Given the description of an element on the screen output the (x, y) to click on. 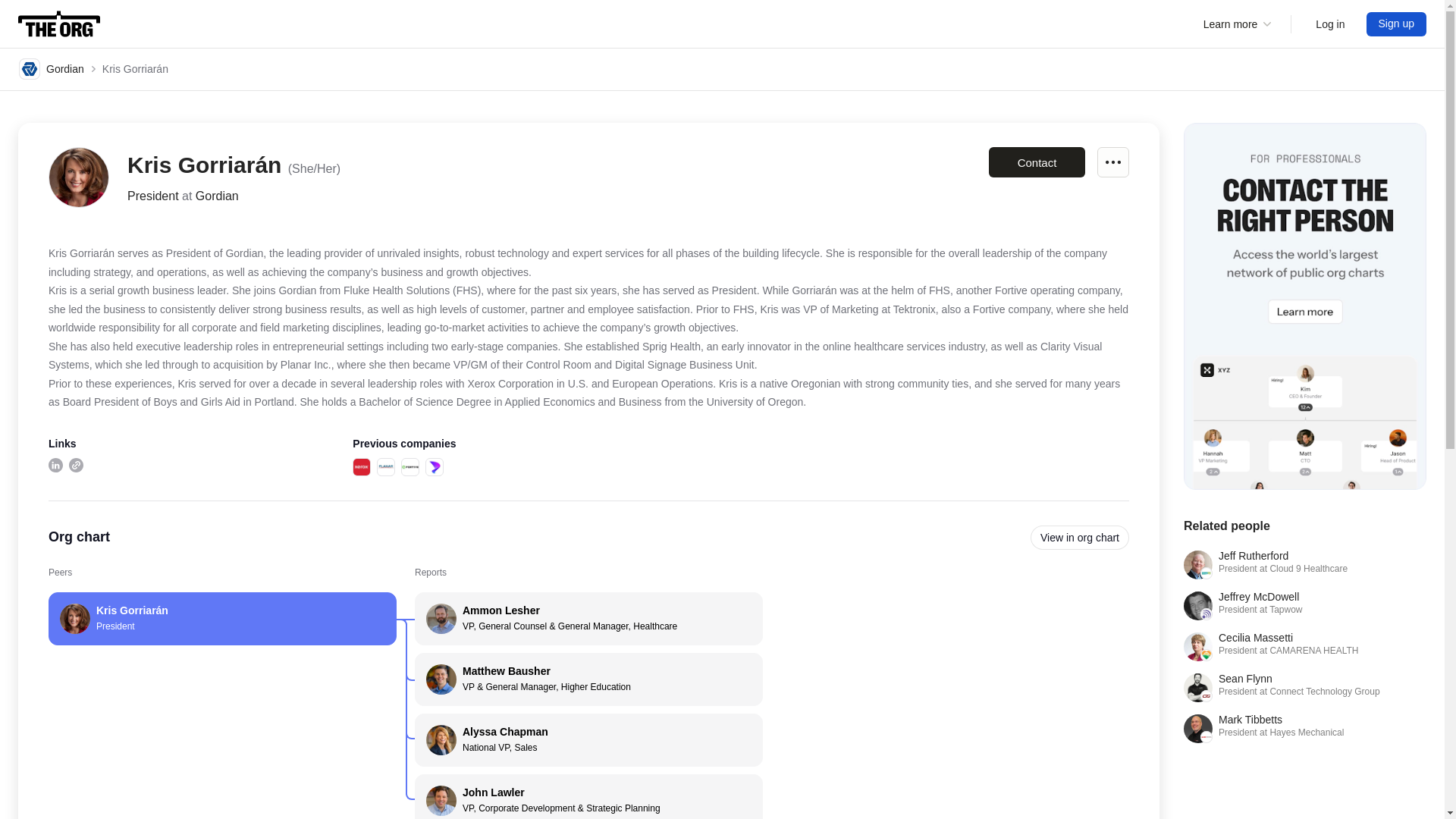
Join, edit and report menu (1113, 162)
View the website (75, 464)
View on linkedIn (55, 464)
Xerox (361, 466)
Gordian (51, 68)
Sign up to The Org (1396, 24)
Danaher (1304, 564)
Contact (434, 466)
Log in to The Org (1036, 162)
Log in (1304, 605)
